Given the description of an element on the screen output the (x, y) to click on. 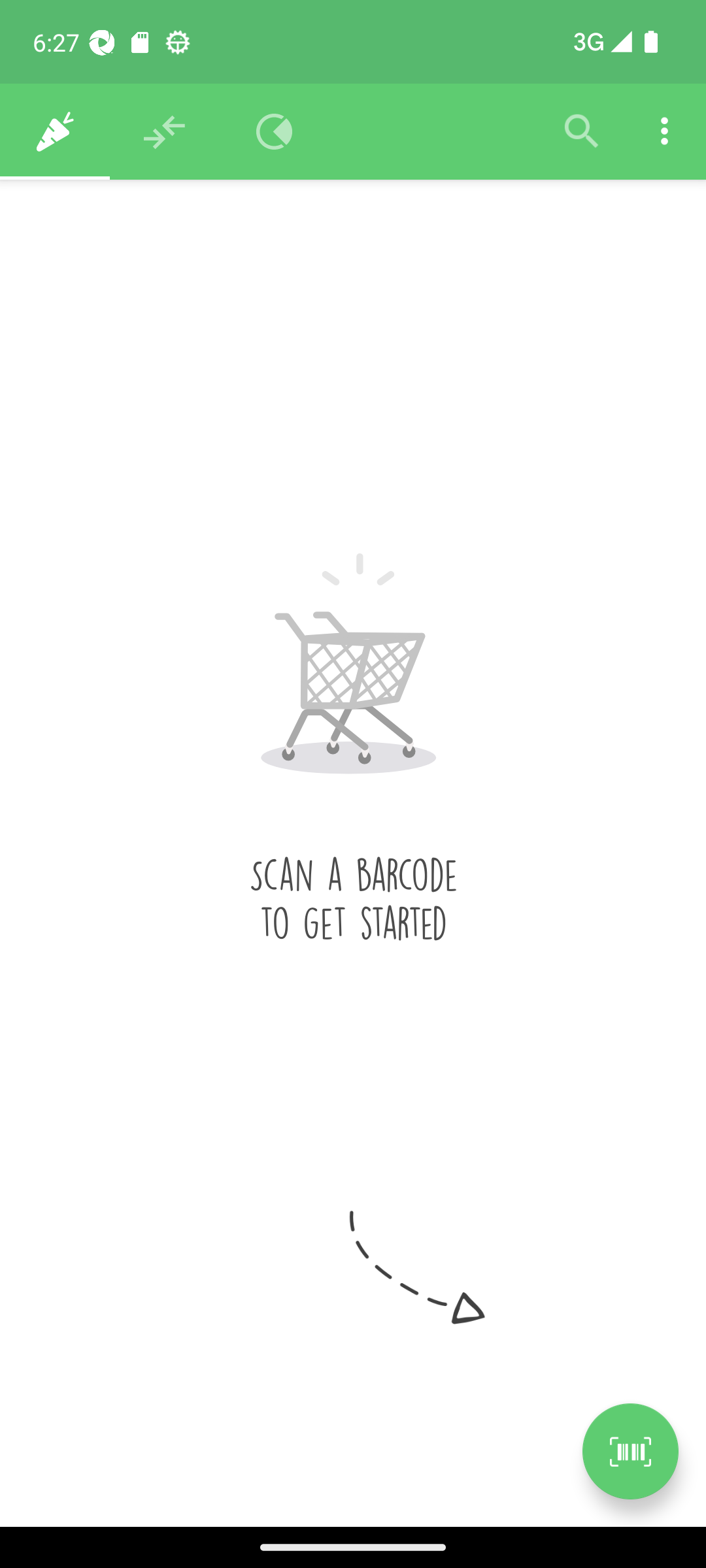
Recommendations (164, 131)
Overview (274, 131)
Filter (581, 131)
Settings (664, 131)
Scan a product (630, 1451)
